Given the description of an element on the screen output the (x, y) to click on. 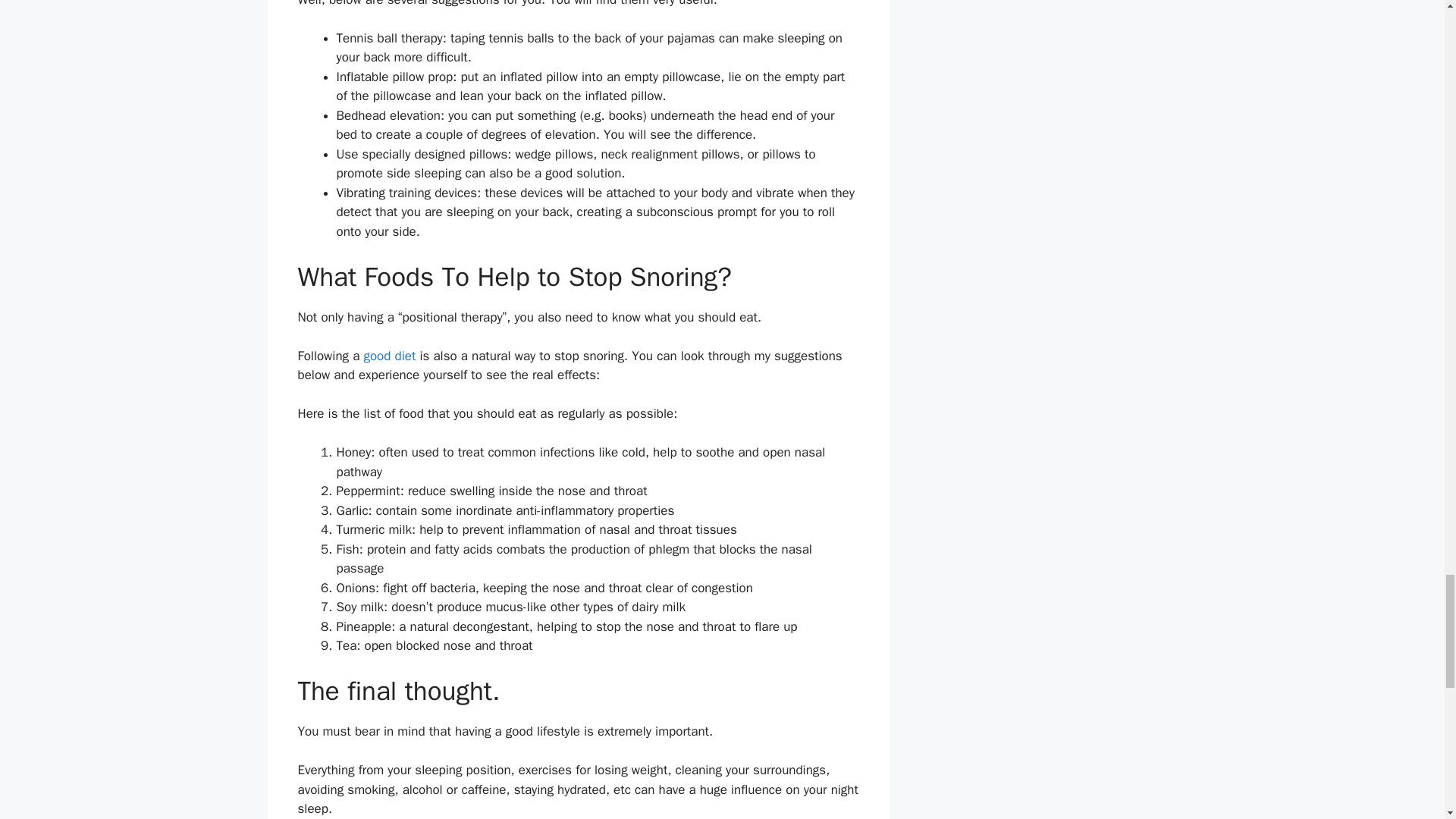
good diet (388, 355)
